Given the description of an element on the screen output the (x, y) to click on. 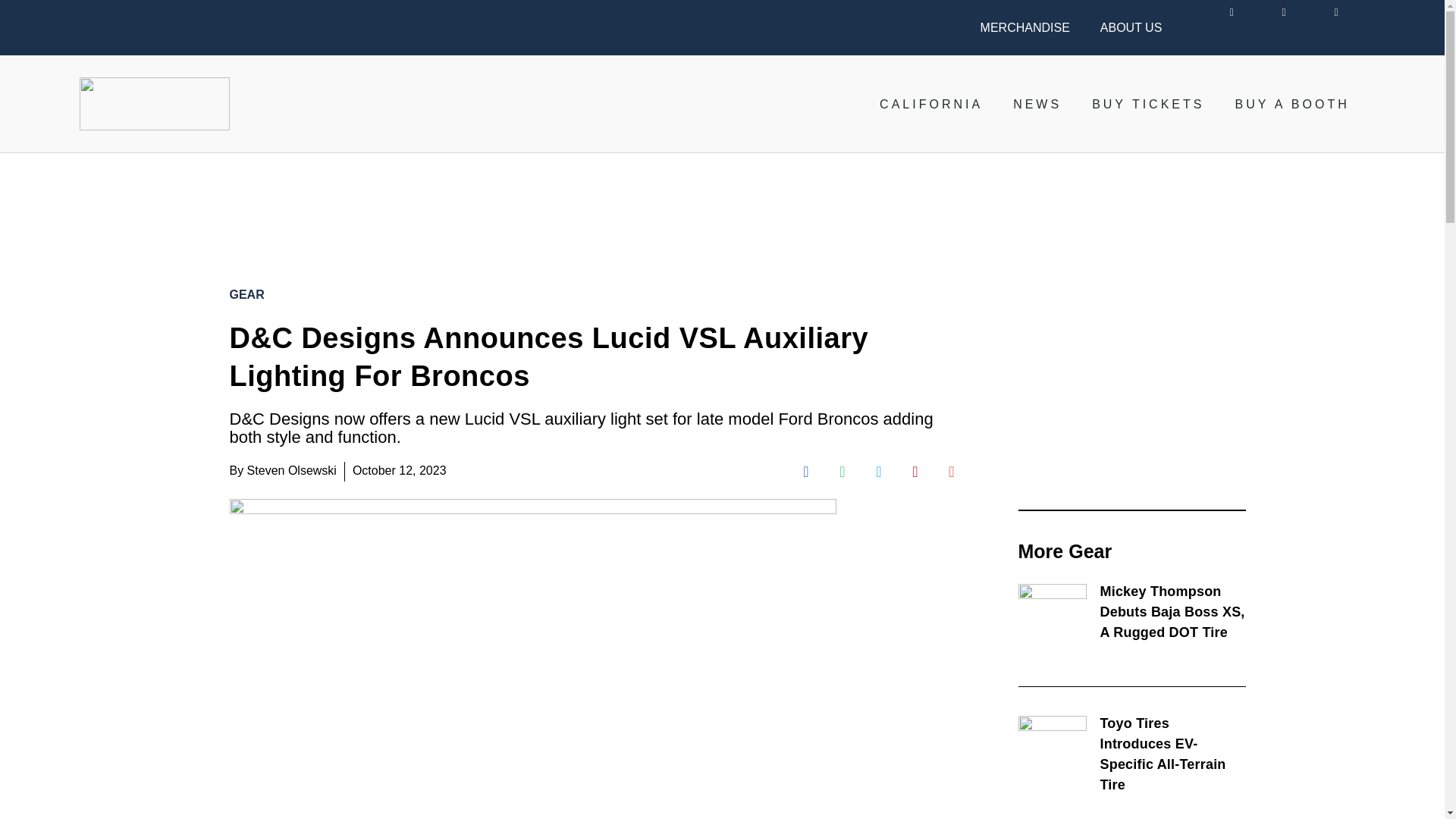
MERCHANDISE (1024, 27)
CALIFORNIA (930, 104)
BUY TICKETS (1148, 104)
BUY A BOOTH (1292, 104)
ABOUT US (1130, 27)
NEWS (1037, 104)
